Given the description of an element on the screen output the (x, y) to click on. 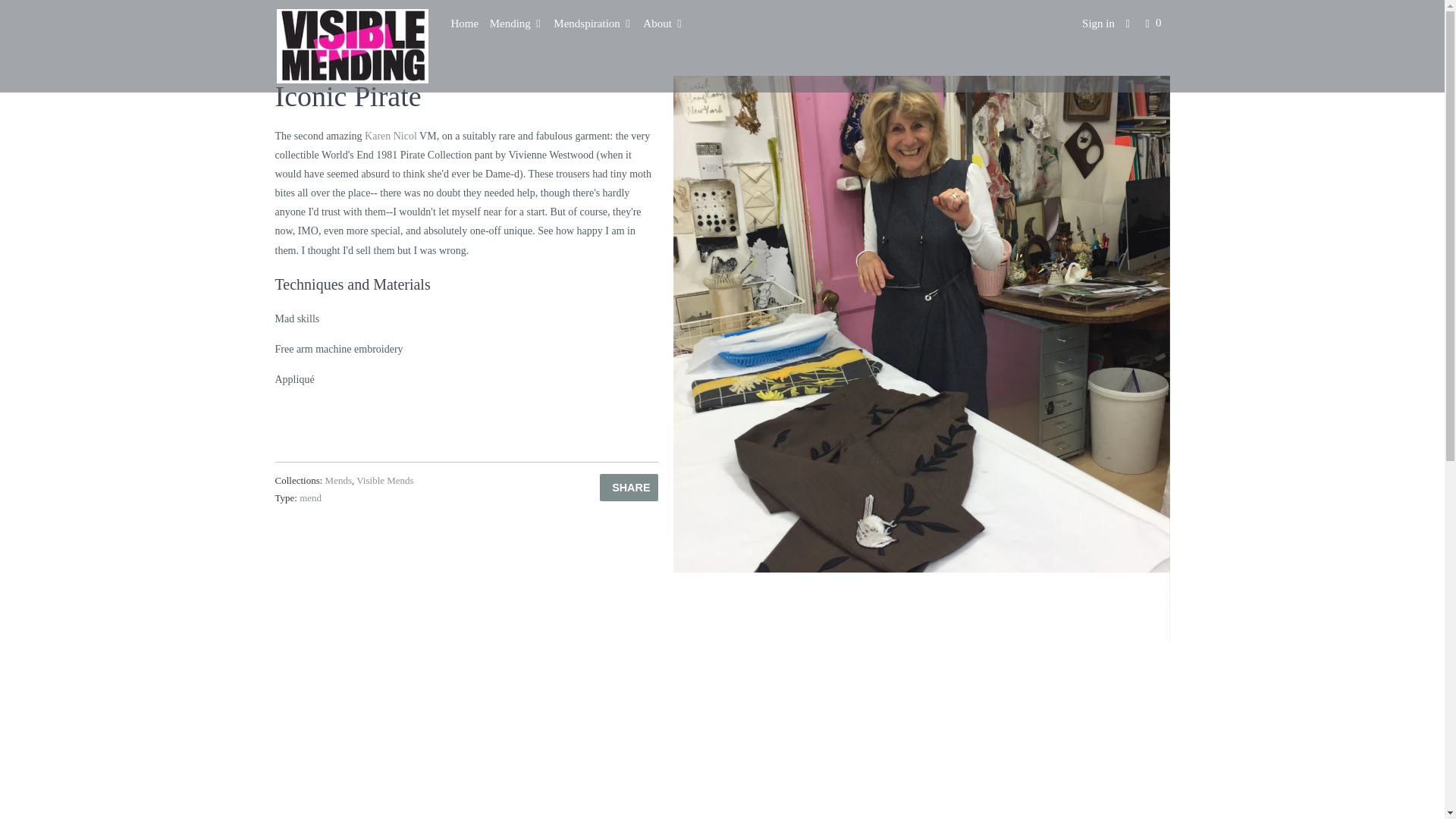
Mending   (516, 23)
visiblemending (352, 46)
About   (662, 23)
Sign in (1098, 23)
0 (1154, 23)
Mendspiration   (592, 23)
Home (463, 23)
Home (463, 23)
Mending (516, 23)
My Account  (1098, 23)
